Given the description of an element on the screen output the (x, y) to click on. 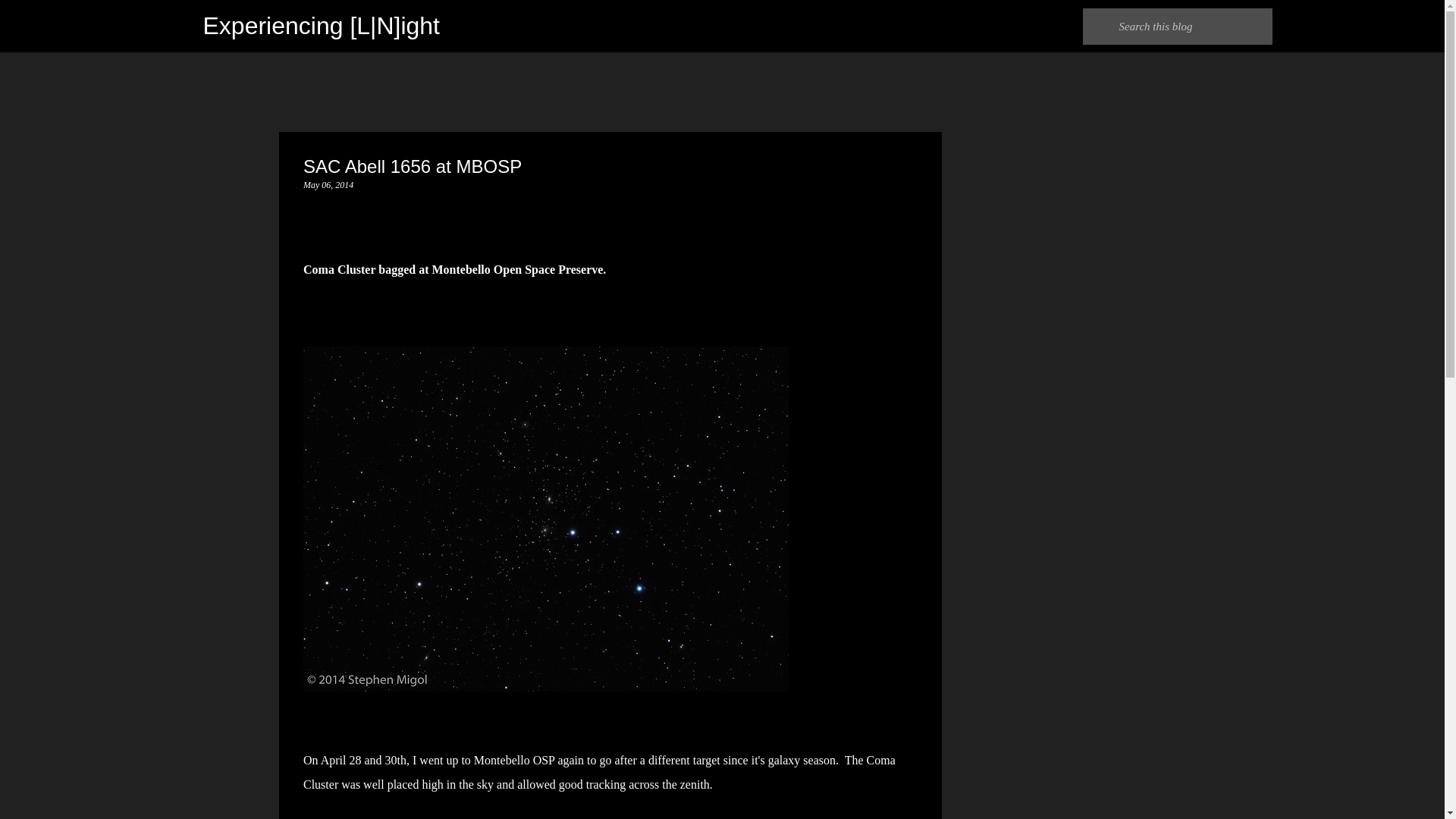
SAC Abell 1656 by Stephen Migol, on Flickr (545, 686)
May 06, 2014 (327, 184)
permanent link (327, 184)
